Given the description of an element on the screen output the (x, y) to click on. 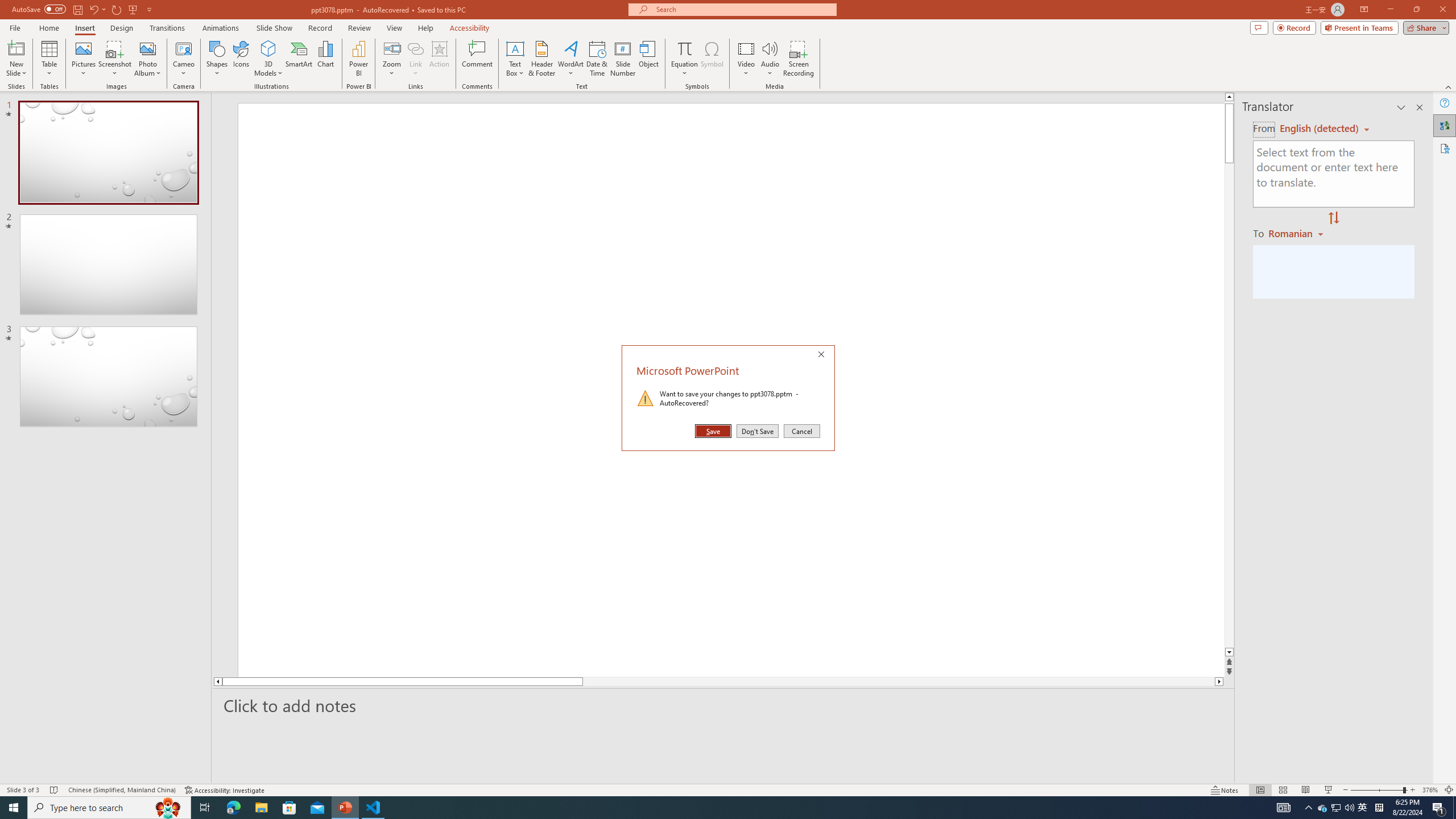
Object... (1322, 807)
Equation (649, 58)
